Given the description of an element on the screen output the (x, y) to click on. 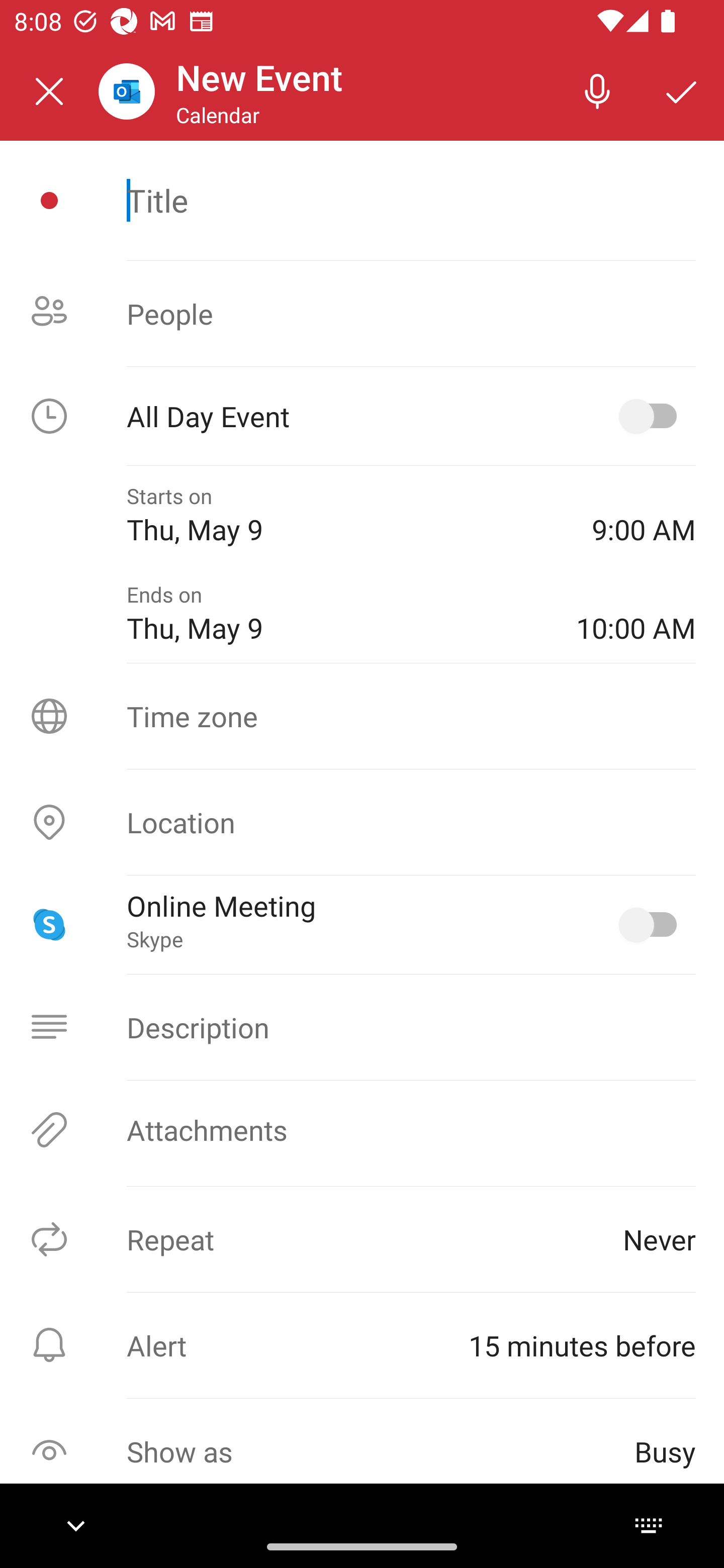
Close (49, 91)
Save (681, 90)
Title (410, 200)
Event icon picker (48, 200)
People (362, 313)
All Day Event (362, 415)
Starts on Thu, May 9 (344, 514)
9:00 AM (643, 514)
Ends on Thu, May 9 (336, 613)
10:00 AM (635, 613)
Time zone (362, 715)
Location (362, 821)
Online Meeting, Skype selected (651, 923)
Description (362, 1026)
Attachments (362, 1129)
Repeat Never (362, 1239)
Alert ⁨15 minutes before (362, 1345)
Show as Busy (362, 1450)
